Given the description of an element on the screen output the (x, y) to click on. 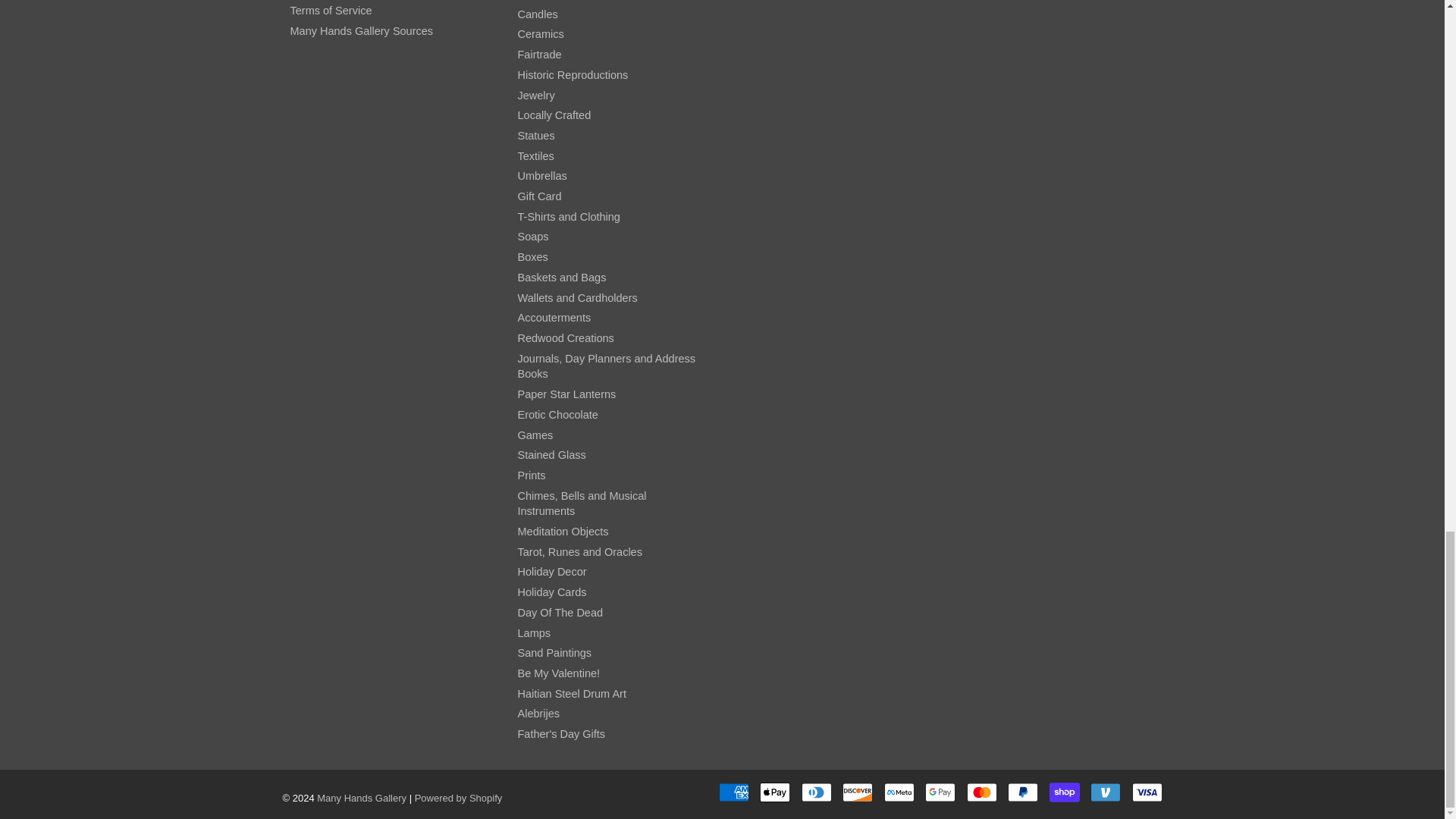
Mastercard (981, 792)
Google Pay (939, 792)
Apple Pay (775, 792)
American Express (734, 792)
Venmo (1105, 792)
Diners Club (816, 792)
PayPal (1022, 792)
Visa (1146, 792)
Discover (857, 792)
Meta Pay (898, 792)
Shop Pay (1064, 792)
